Given the description of an element on the screen output the (x, y) to click on. 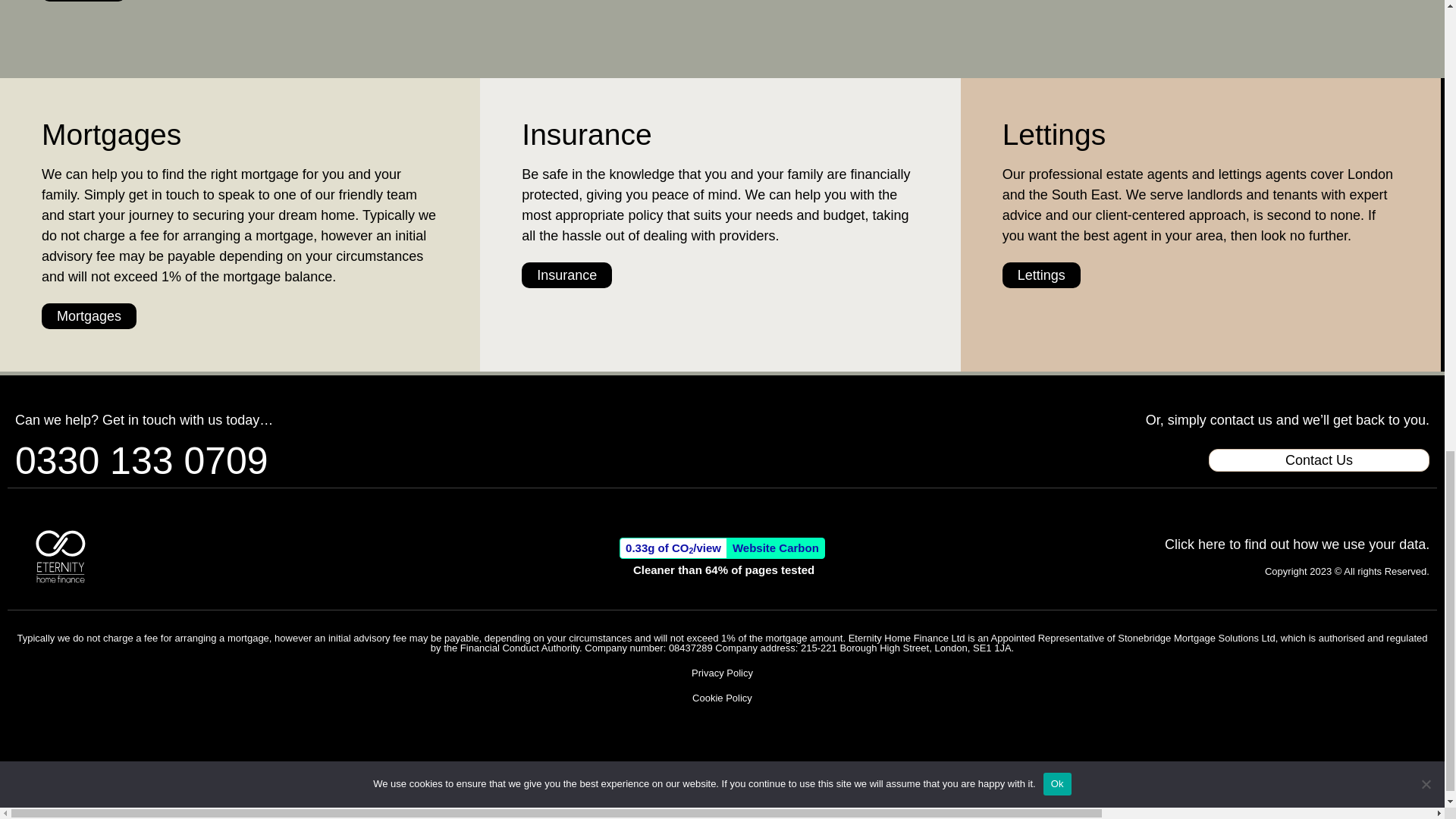
Mortgages (89, 316)
Insurance (566, 275)
About us (83, 0)
Cookie Policy (722, 697)
Click here to find out how we use your data. (1296, 544)
Privacy Policy (721, 672)
Contact Us (1318, 459)
slot online (27, 729)
Website Carbon (775, 547)
Lettings (1041, 275)
